Given the description of an element on the screen output the (x, y) to click on. 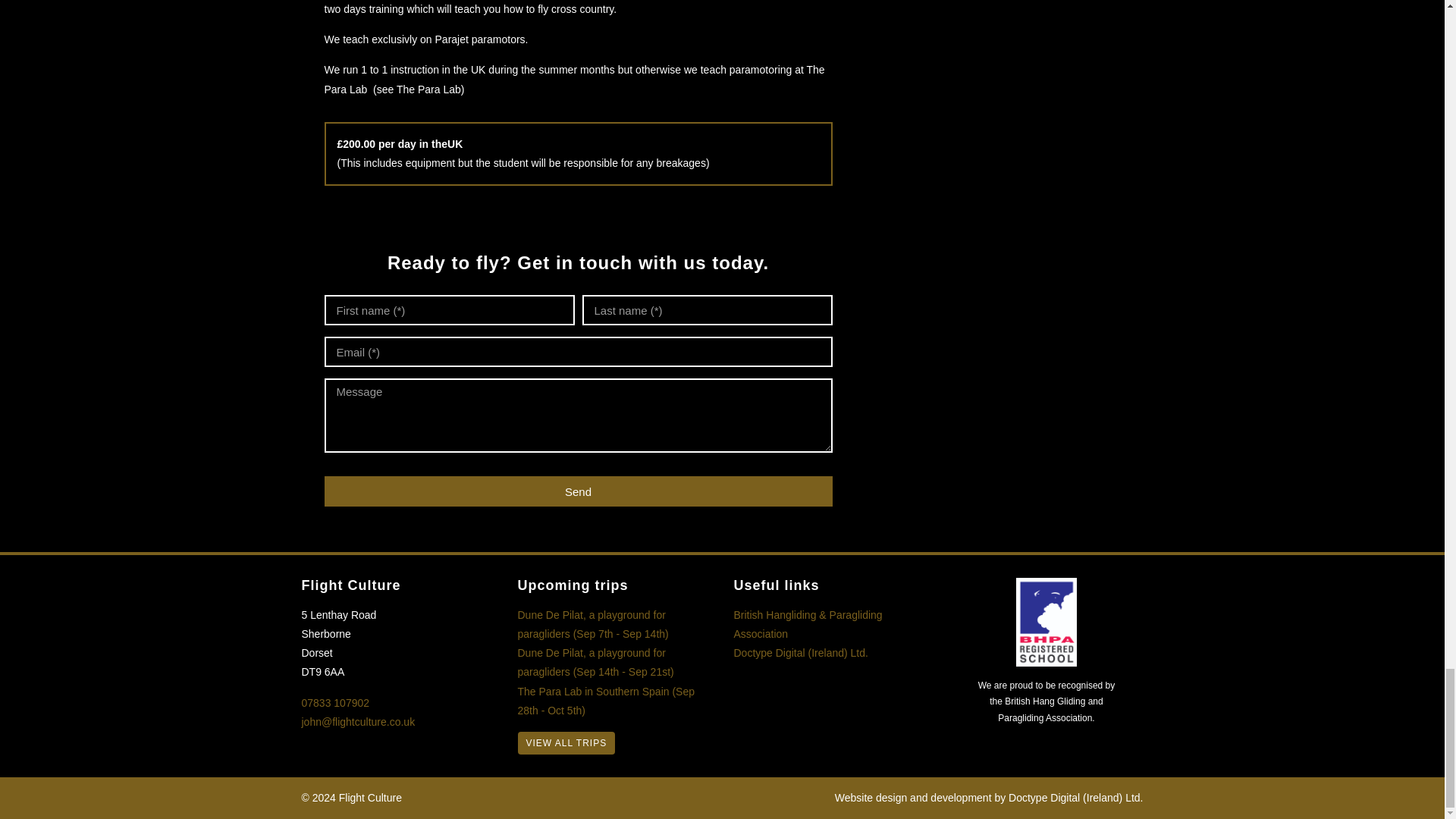
07833 107902 (335, 702)
VIEW ALL TRIPS (565, 743)
Send (578, 490)
